Given the description of an element on the screen output the (x, y) to click on. 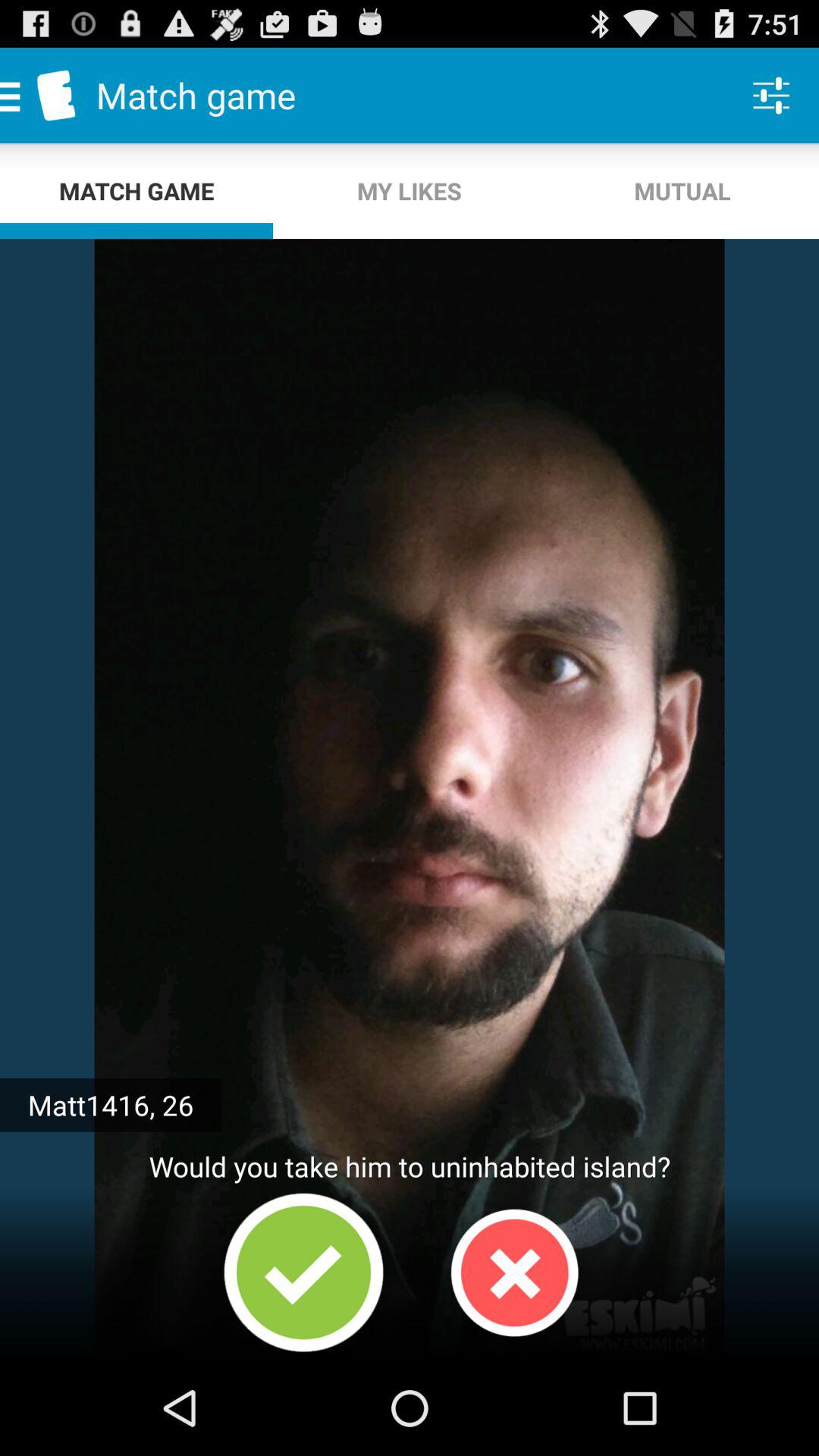
turn off the icon next to my likes icon (682, 190)
